Given the description of an element on the screen output the (x, y) to click on. 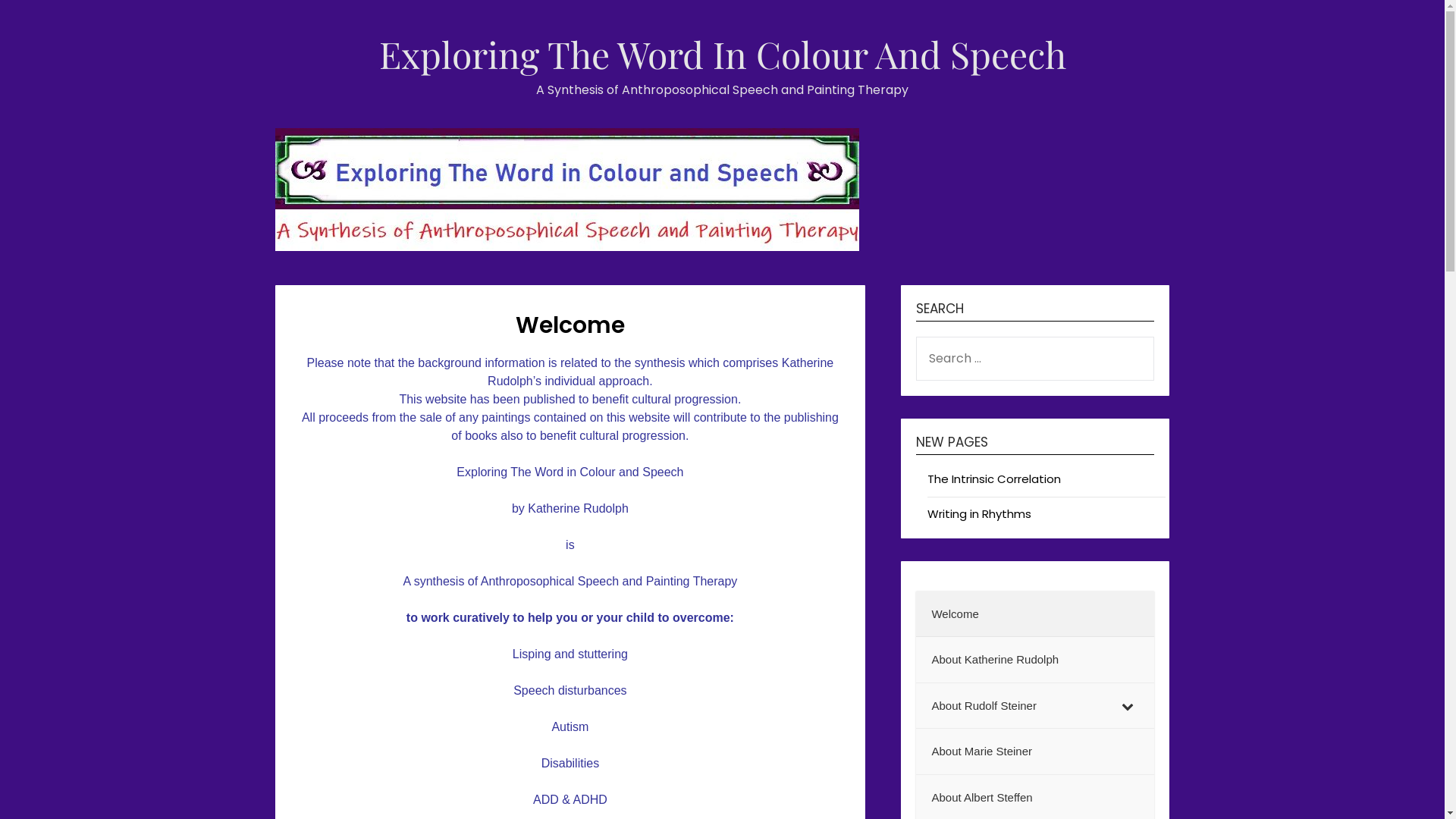
Exploring The Word In Colour And Speech Element type: text (722, 53)
About Marie Steiner Element type: text (1035, 751)
About Katherine Rudolph Element type: text (1035, 660)
Welcome Element type: text (1035, 614)
Search Element type: text (40, 21)
Writing in Rhythms Element type: text (979, 513)
About Rudolf Steiner Element type: text (1035, 706)
The Intrinsic Correlation Element type: text (993, 478)
